Given the description of an element on the screen output the (x, y) to click on. 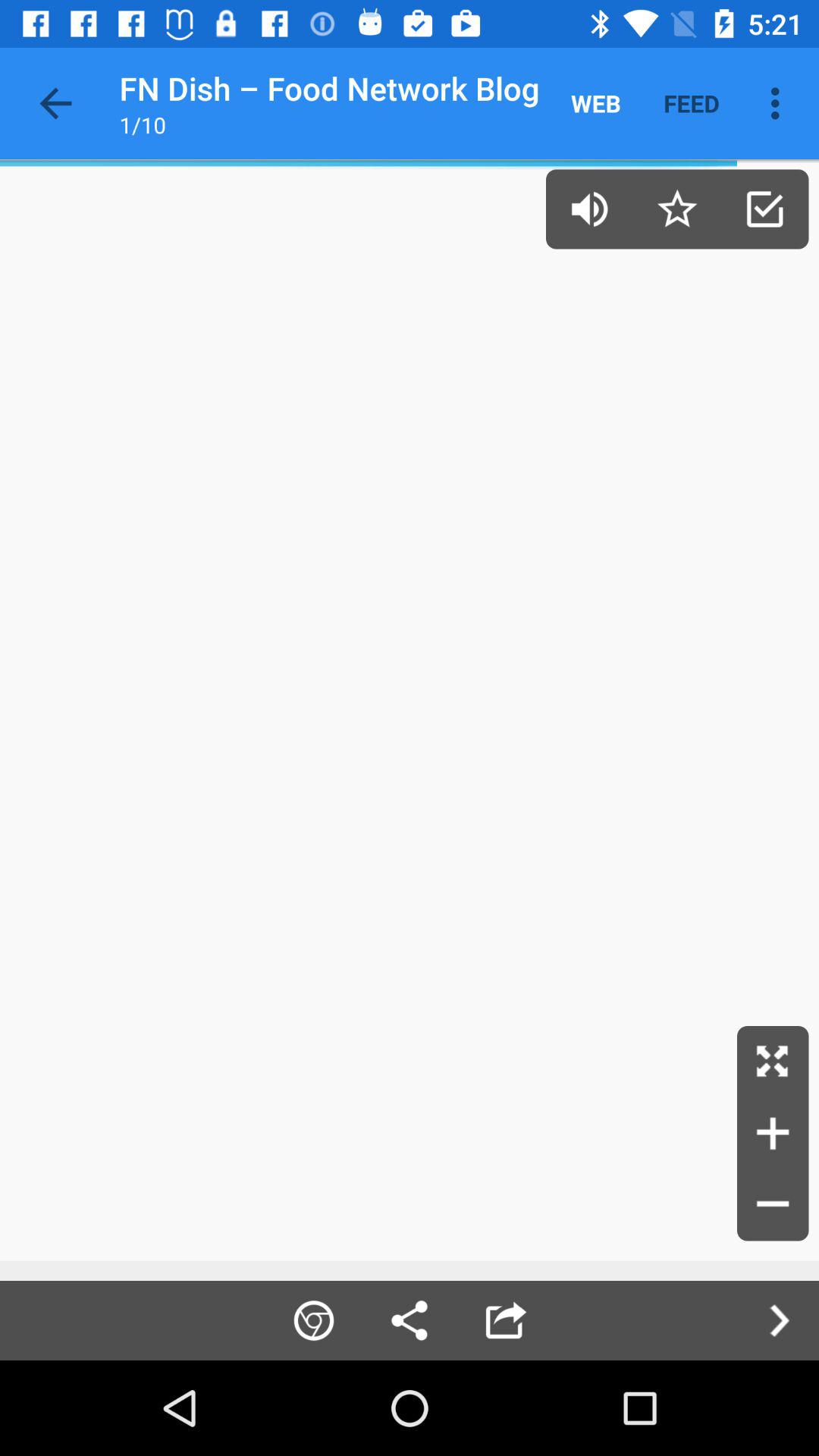
show full screen (772, 1061)
